Given the description of an element on the screen output the (x, y) to click on. 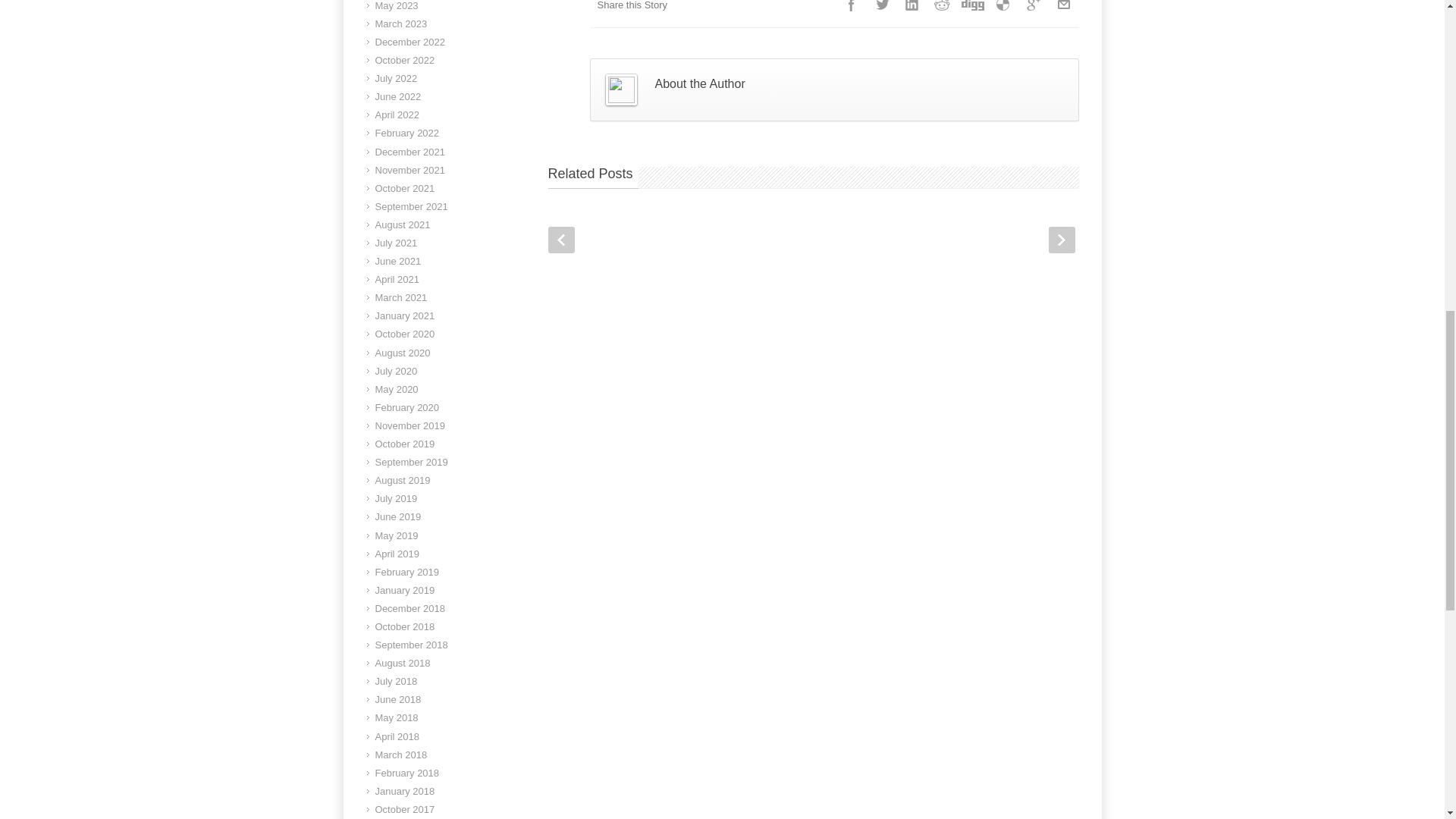
Delicious (1002, 9)
Twitter (881, 9)
Facebook (850, 9)
LinkedIn (911, 9)
Digg (971, 9)
Reddit (941, 9)
